Given the description of an element on the screen output the (x, y) to click on. 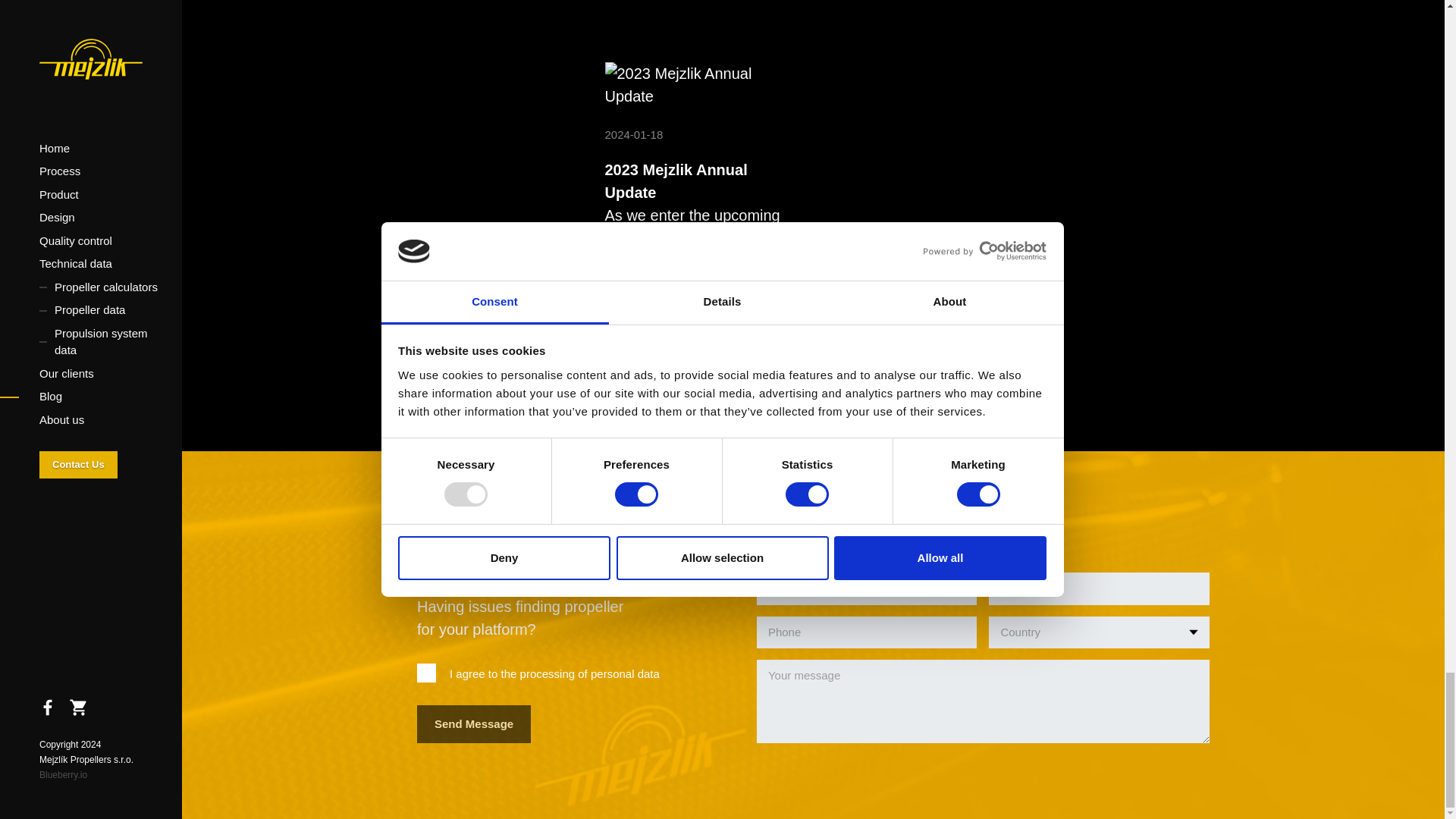
Send Message (473, 723)
2023 Mejzlik Annual Update (702, 84)
